Given the description of an element on the screen output the (x, y) to click on. 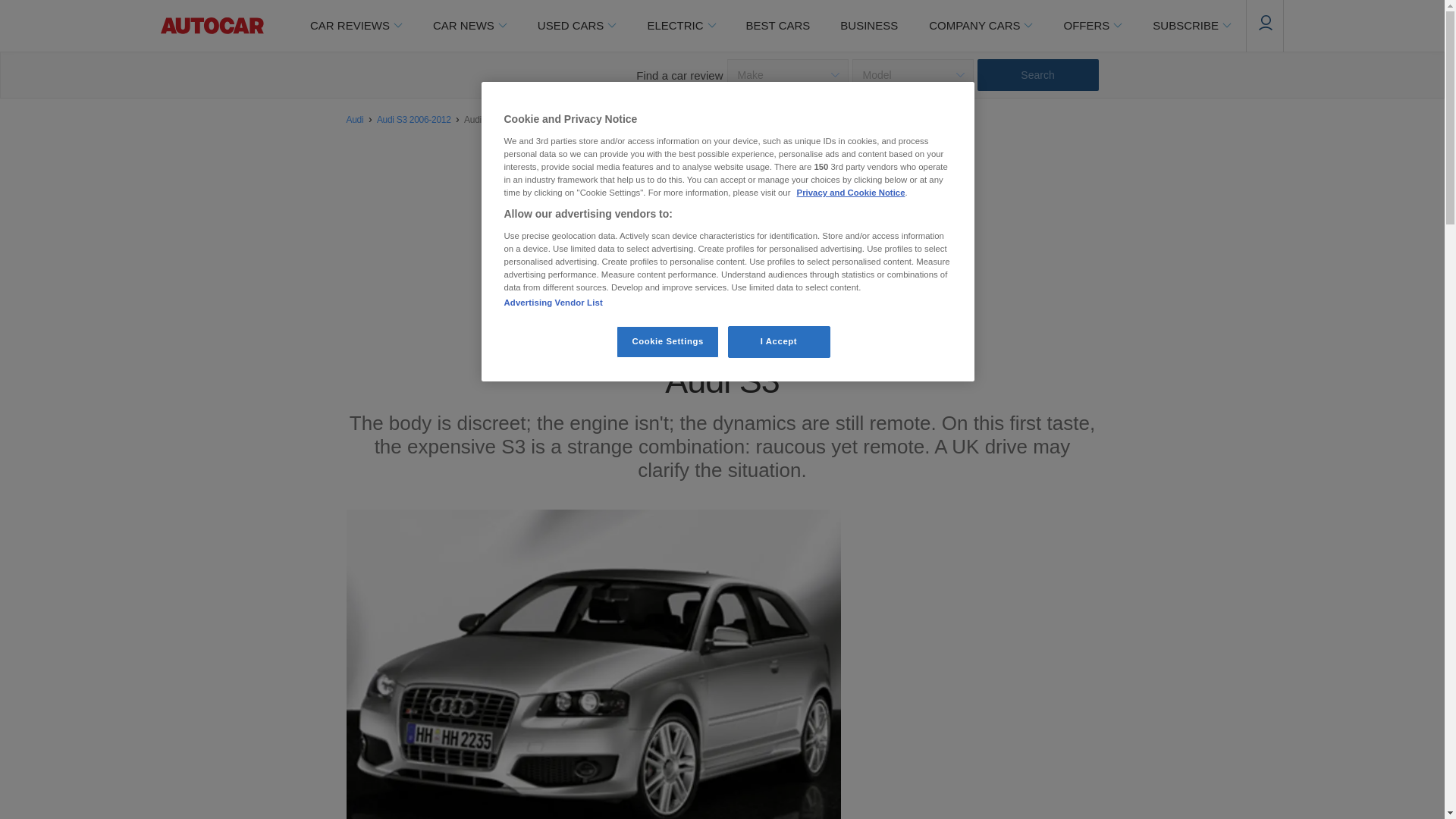
ELECTRIC (680, 26)
BUSINESS (868, 26)
CAR NEWS (468, 26)
USED CARS (576, 26)
SUBSCRIBE (1191, 26)
CAR REVIEWS (355, 26)
Search (1036, 74)
OFFERS (1091, 26)
Home (211, 25)
Search (1036, 74)
BEST CARS (777, 26)
COMPANY CARS (979, 26)
Top 10 cars by segment (777, 26)
Autocar Business news, insight and opinion (868, 26)
Autocar Electric (680, 26)
